Given the description of an element on the screen output the (x, y) to click on. 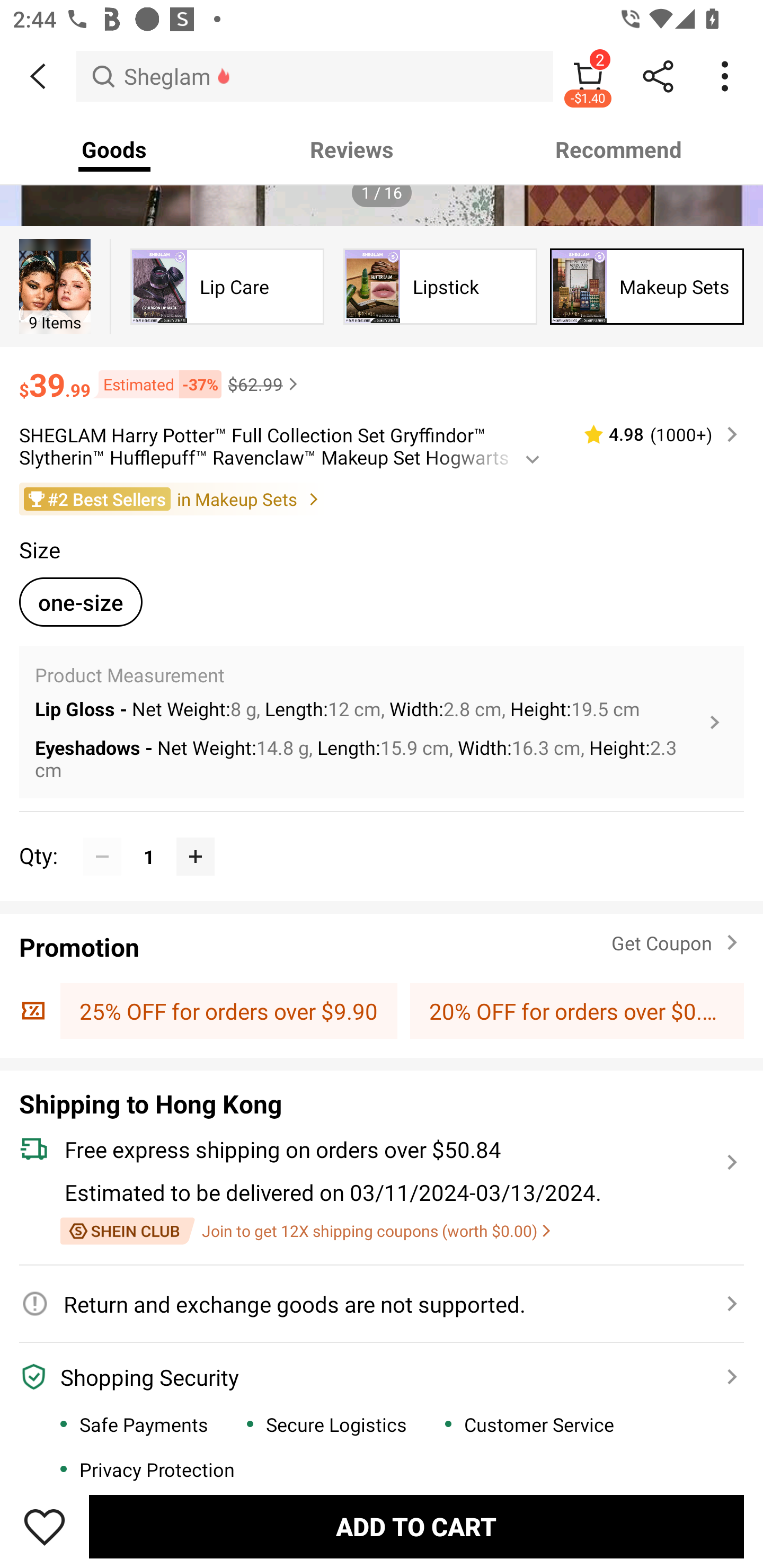
PHOTOS 1 / 16 (381, 131)
PHOTOS (381, 131)
BACK (38, 75)
2 -$1.40 (588, 75)
Sheglam (314, 75)
Goods (114, 149)
Reviews (351, 149)
Recommend (618, 149)
1 / 16 (381, 192)
Lip Gloss 9 Items Lip Care Lipstick Makeup Sets (381, 285)
9 Items (55, 285)
Lip Gloss (55, 285)
Lip Care (227, 285)
Lipstick (440, 285)
Makeup Sets (646, 285)
$39.99 Estimated -37% $62.99 (381, 376)
Estimated -37% (155, 384)
$62.99 (265, 384)
4.98 (1000‎+) (653, 433)
#2 Best Sellers in Makeup Sets (381, 498)
Size (381, 549)
Size (39, 549)
one-size one-sizeselected option (80, 598)
one-size one-sizeselected option (80, 602)
Qty: 1 (381, 836)
Join to get 12X shipping coupons (worth $0.00) (305, 1230)
Return and exchange goods are not supported. (370, 1303)
ADD TO CART (416, 1526)
Save (44, 1526)
